Given the description of an element on the screen output the (x, y) to click on. 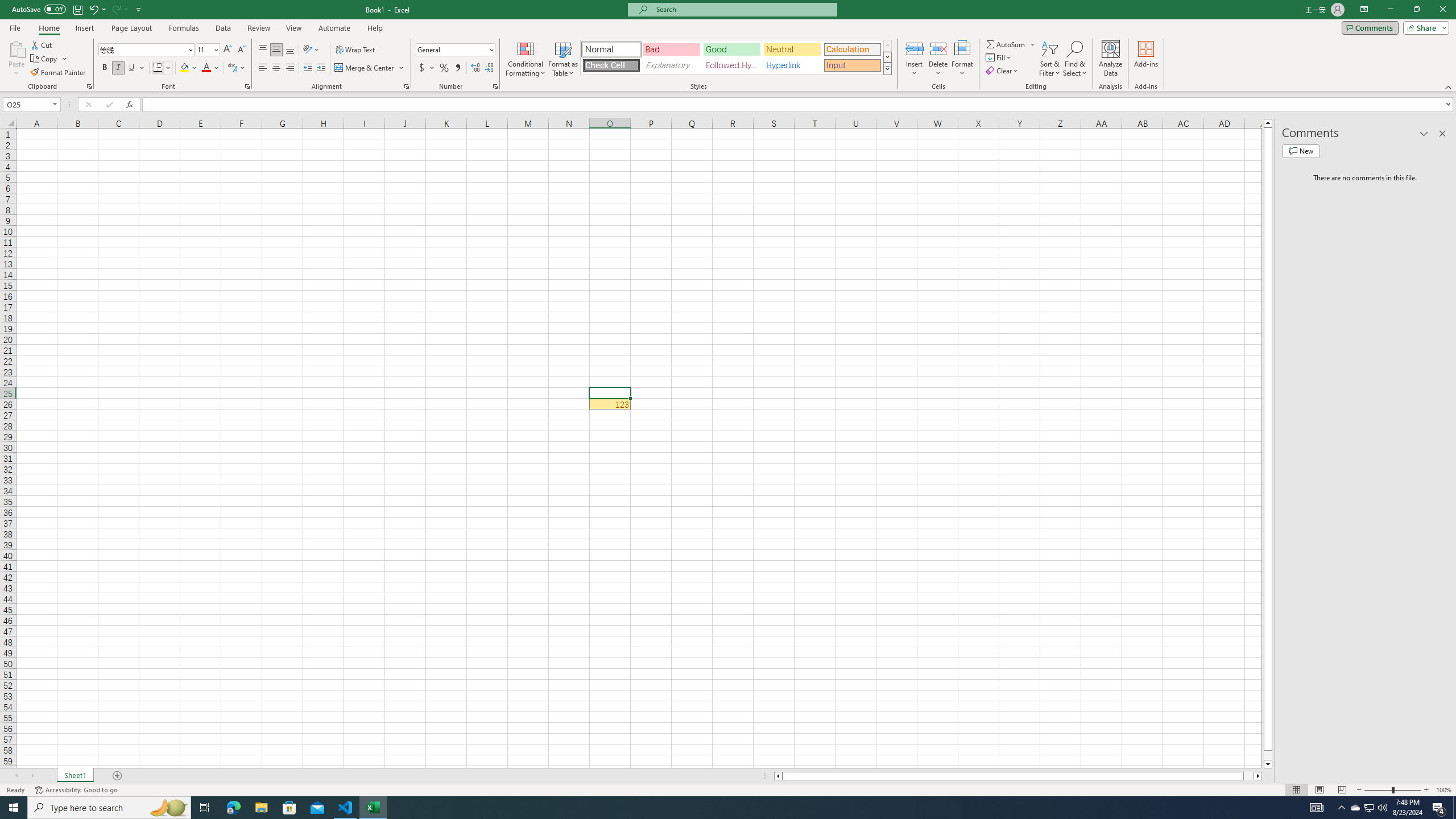
Format Cell Number (494, 85)
Fill Color (188, 67)
Input (852, 65)
Font (142, 49)
Align Right (290, 67)
